Given the description of an element on the screen output the (x, y) to click on. 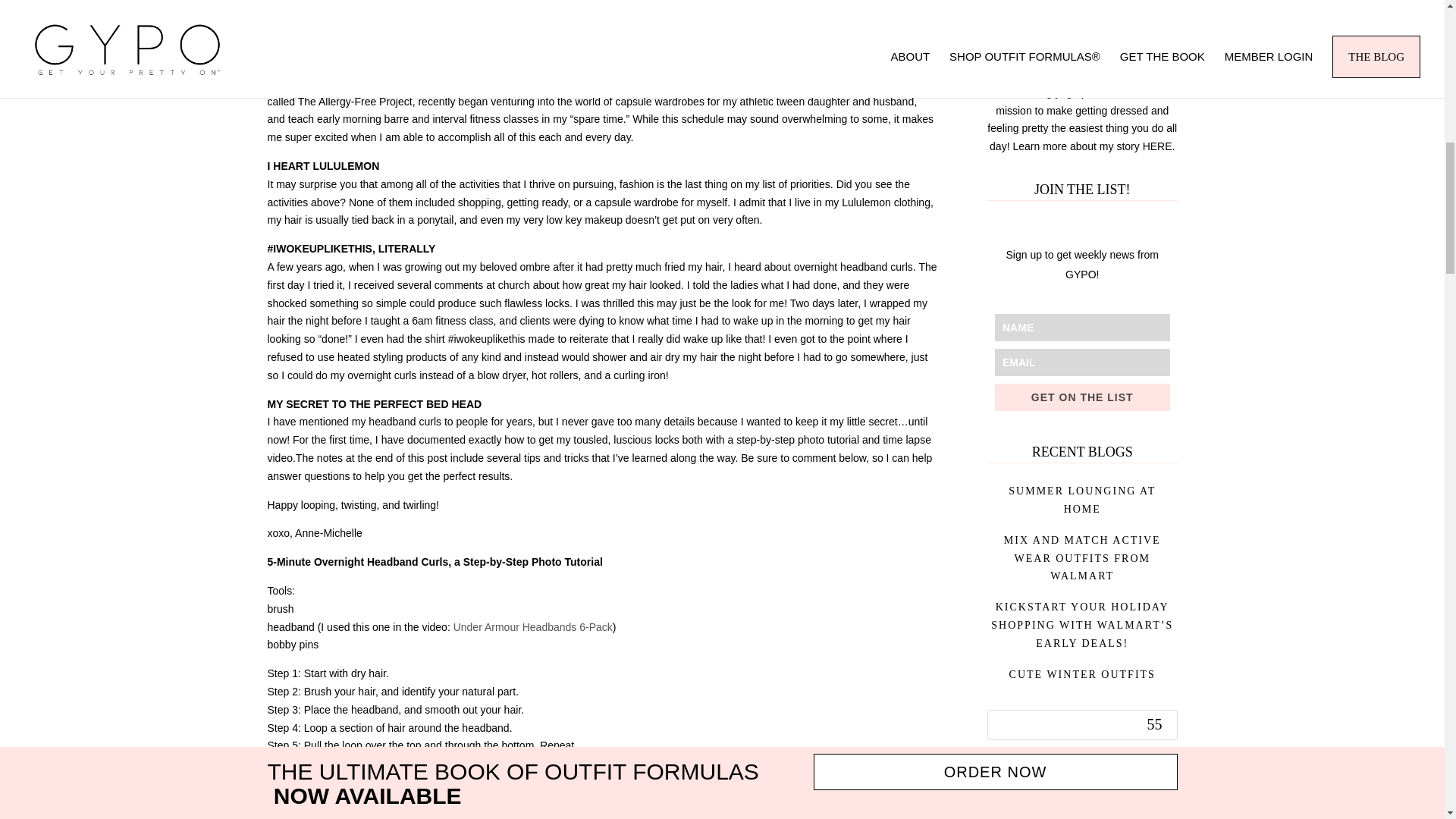
MIX AND MATCH ACTIVE WEAR OUTFITS FROM WALMART (1082, 558)
Under Armour Headbands 6-Pack (532, 626)
HERE (1157, 146)
GET ON THE LIST (1082, 397)
SUMMER LOUNGING AT HOME (1082, 500)
Search (1156, 725)
CUTE WINTER OUTFITS (1082, 674)
Search (1156, 725)
